Given the description of an element on the screen output the (x, y) to click on. 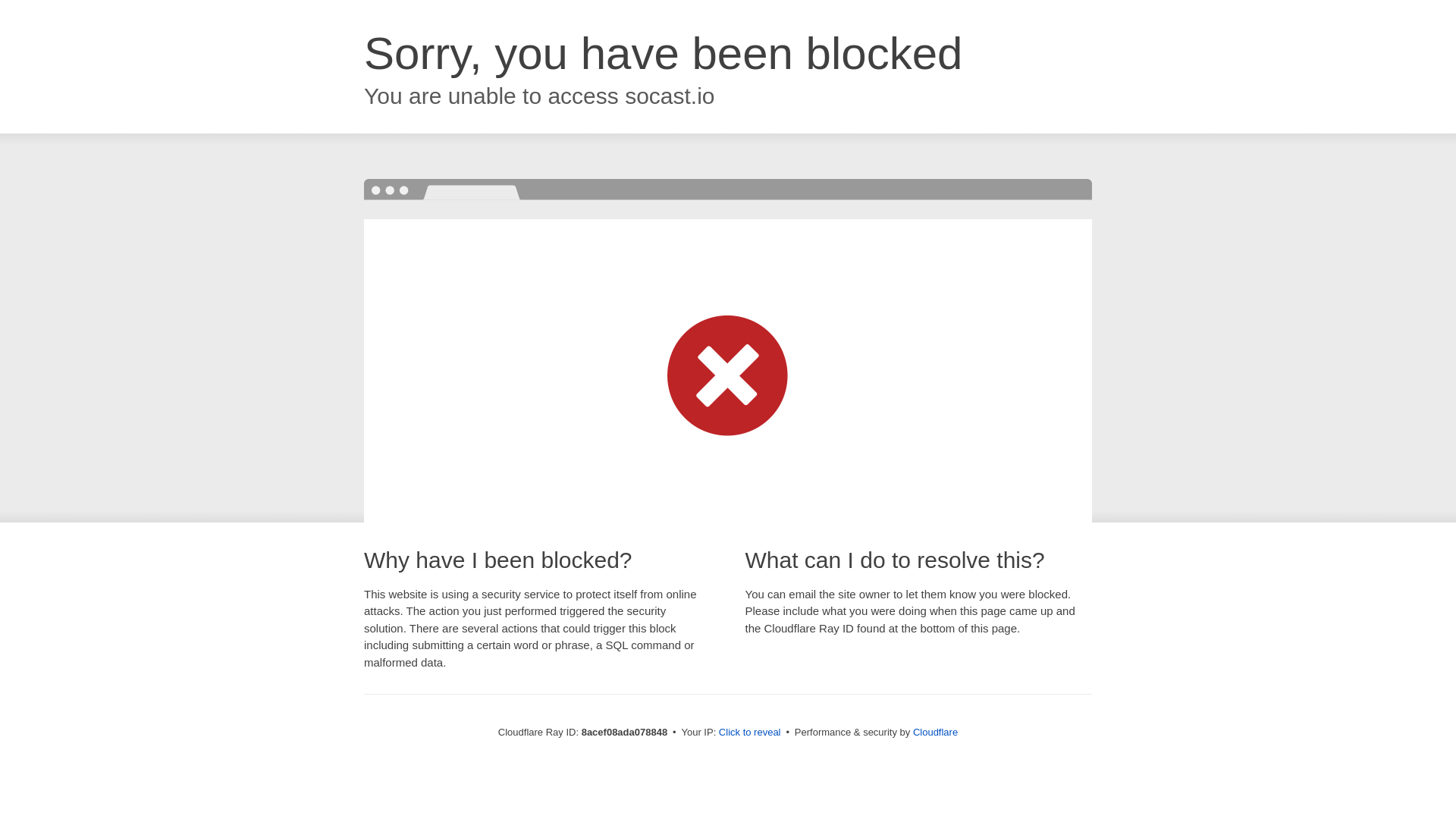
Cloudflare (935, 731)
Click to reveal (749, 732)
